Given the description of an element on the screen output the (x, y) to click on. 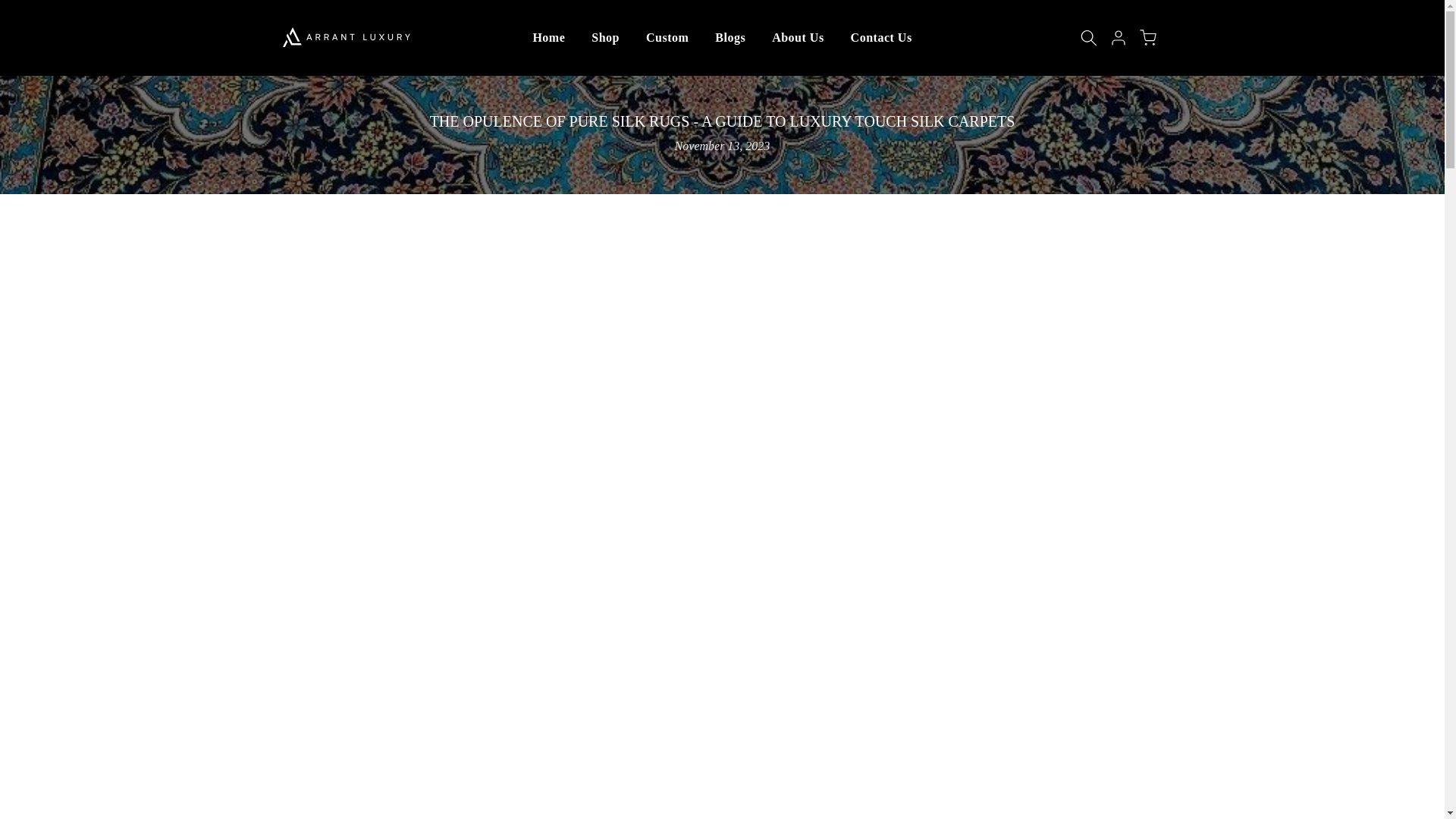
Contact Us (880, 37)
Skip to content (10, 7)
Home (548, 37)
Custom (666, 37)
Shop (605, 37)
About Us (797, 37)
Blogs (729, 37)
